Given the description of an element on the screen output the (x, y) to click on. 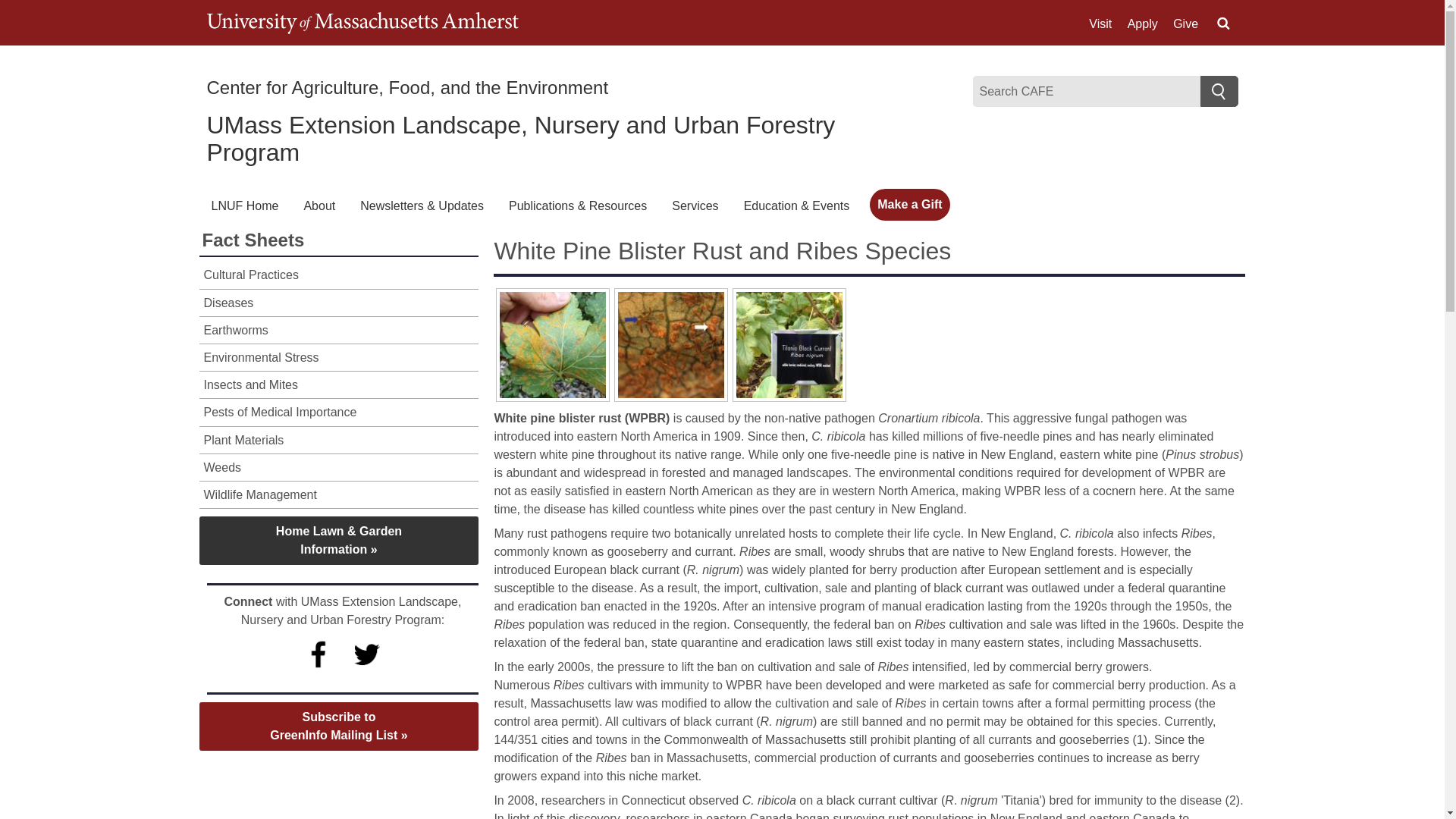
Search UMass.edu (1221, 23)
LNUF Home (243, 206)
Search (1218, 91)
Search (1218, 91)
About (318, 206)
Give (1185, 24)
Landscape, Nursery and Urban Forestry Home (520, 138)
UMass Amherst (362, 22)
Home (407, 86)
Visit (1100, 24)
Center for Agriculture, Food, and the Environment (407, 86)
The University of Massachusetts Amherst (362, 22)
Apply (1141, 24)
Services (694, 206)
